Given the description of an element on the screen output the (x, y) to click on. 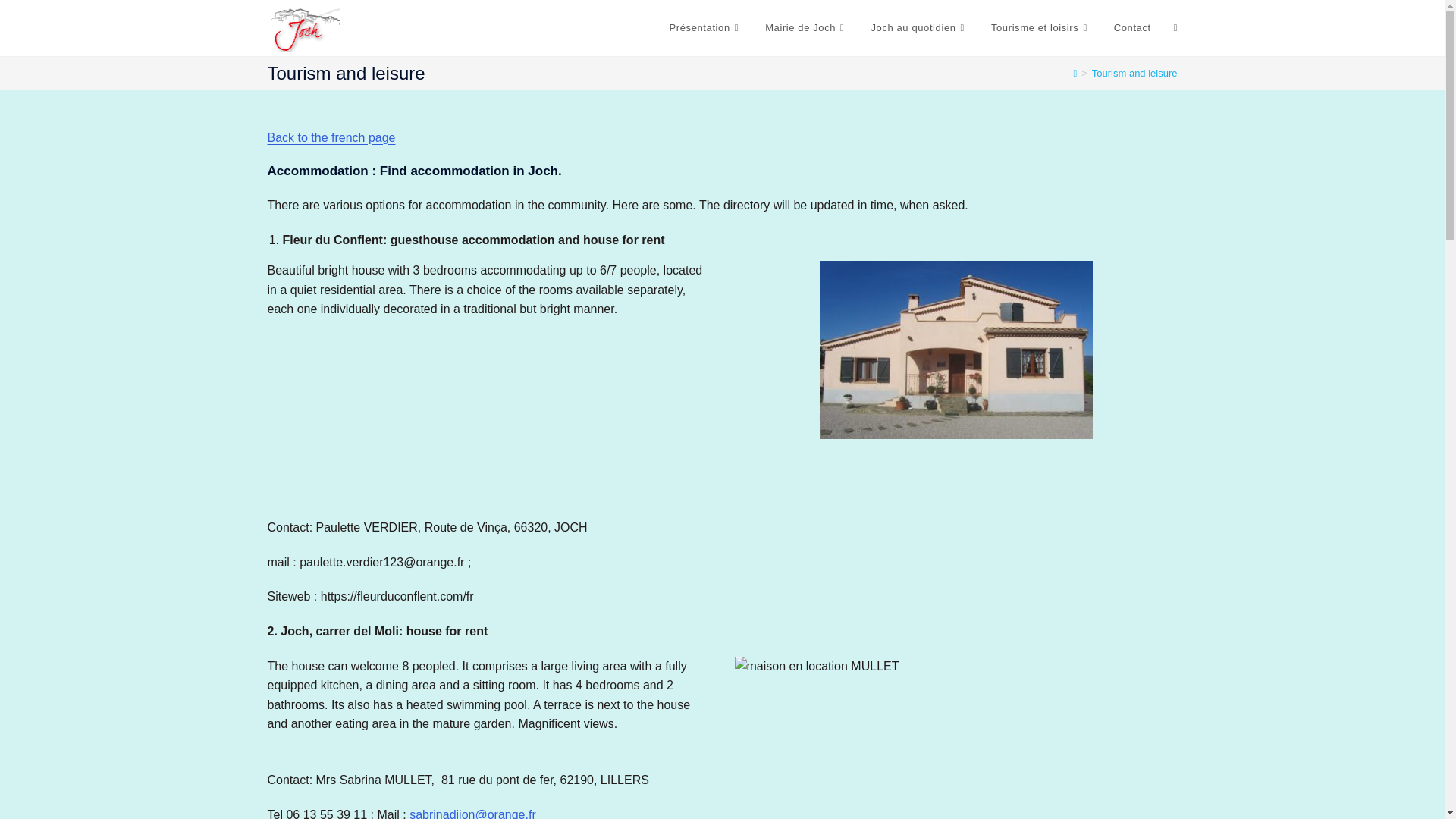
Tourisme et loisirs (1040, 28)
Contact (1131, 28)
Mairie de Joch (806, 28)
Joch au quotidien (918, 28)
